Given the description of an element on the screen output the (x, y) to click on. 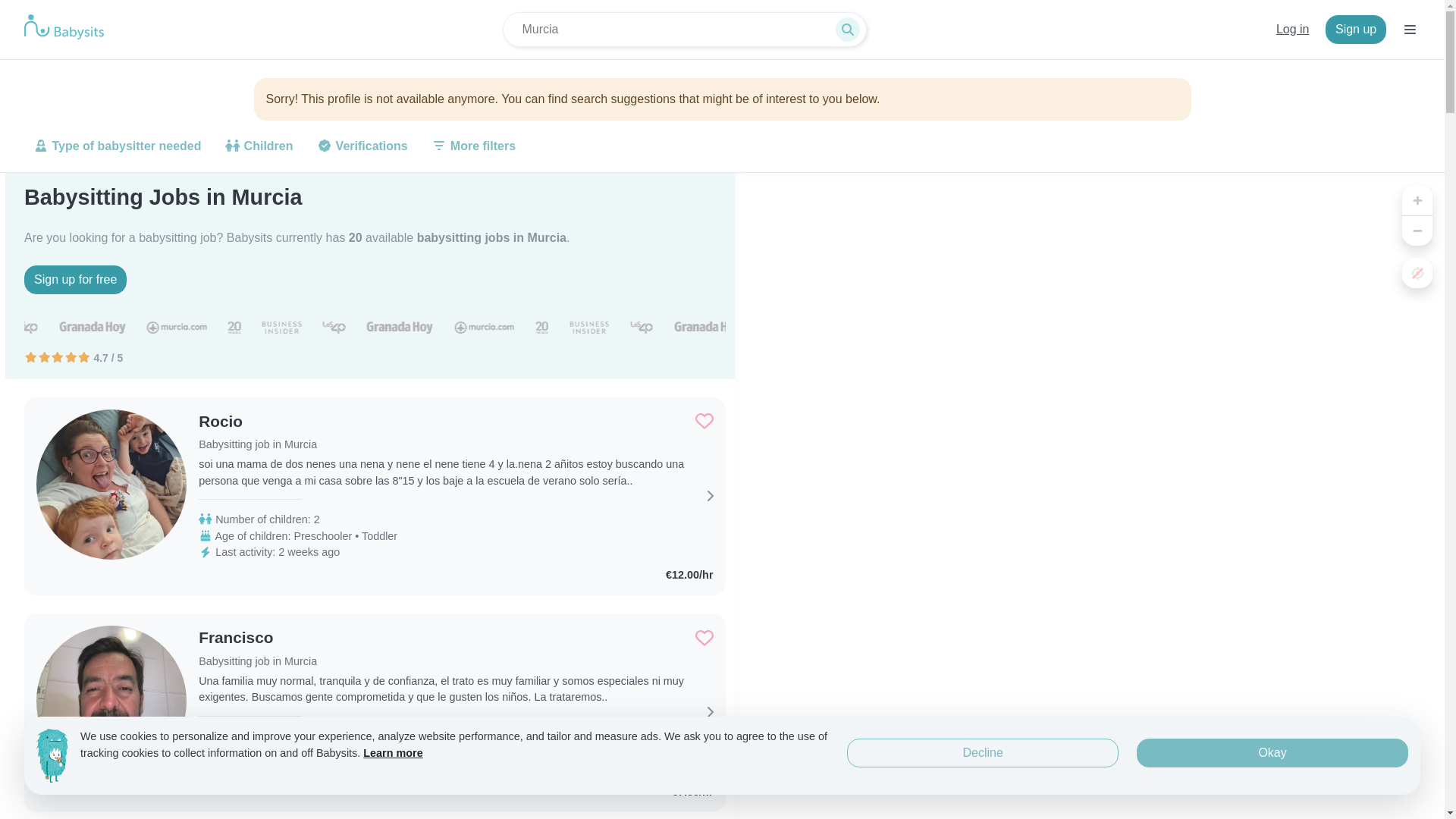
More filters (473, 145)
Profile parent Rocio - Murcia (257, 421)
Log in (1292, 29)
Murcia (684, 29)
Babysitting job in Murcia (257, 661)
Profile parent Francisco - Murcia (257, 637)
Verifications (361, 145)
Type of babysitter needed (117, 145)
Rocio (257, 421)
Sign up (1355, 29)
Sign up for free (75, 279)
Francisco (257, 637)
Babysitting job in Murcia (257, 444)
Children (258, 145)
